Given the description of an element on the screen output the (x, y) to click on. 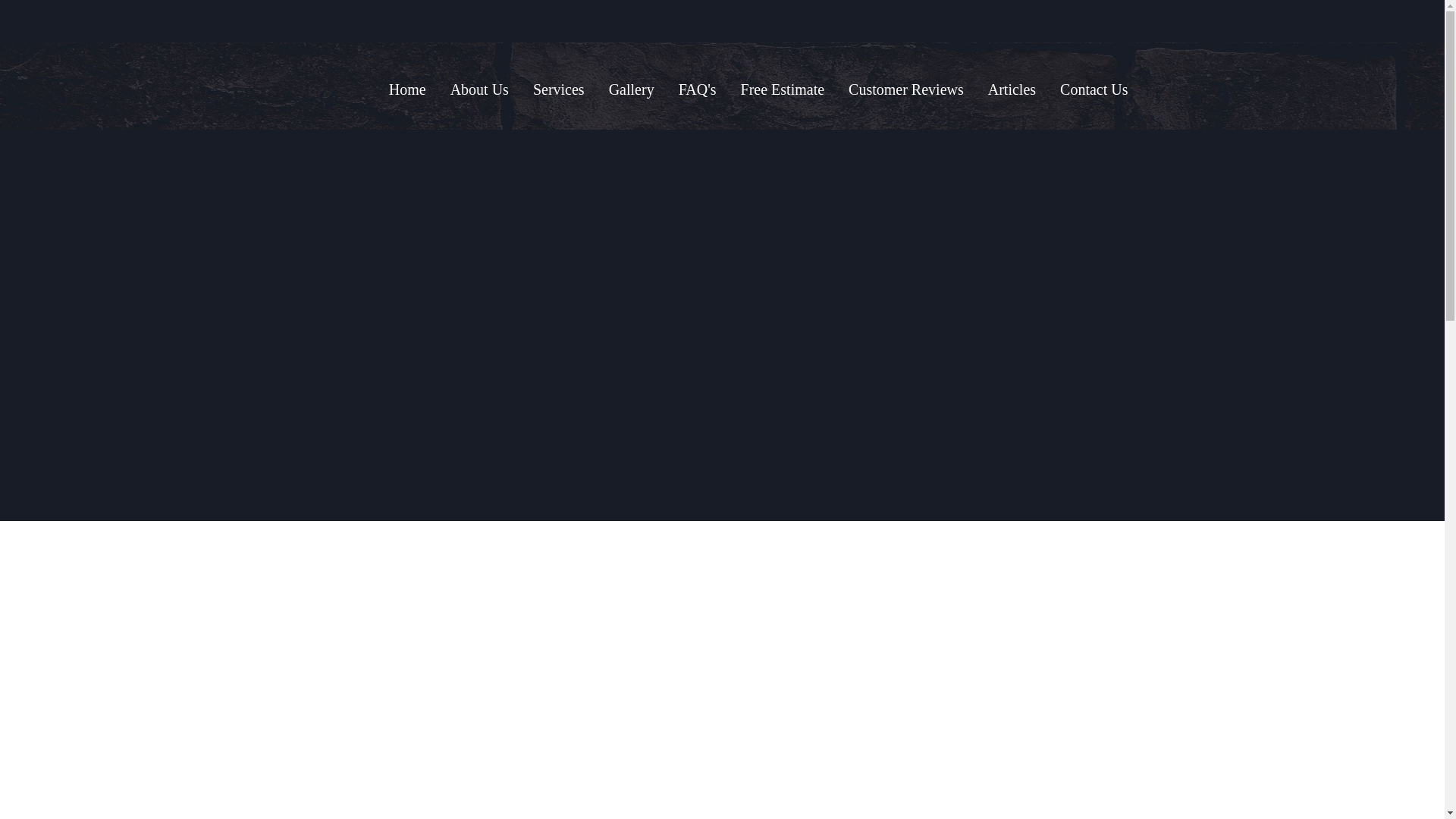
Services (558, 89)
Home (407, 89)
Free Estimate (782, 89)
Gallery (631, 89)
Articles (1011, 89)
FAQ's (697, 89)
 Submit  (796, 429)
Customer Reviews (905, 89)
About Us (479, 89)
Contact Us (1092, 89)
